Given the description of an element on the screen output the (x, y) to click on. 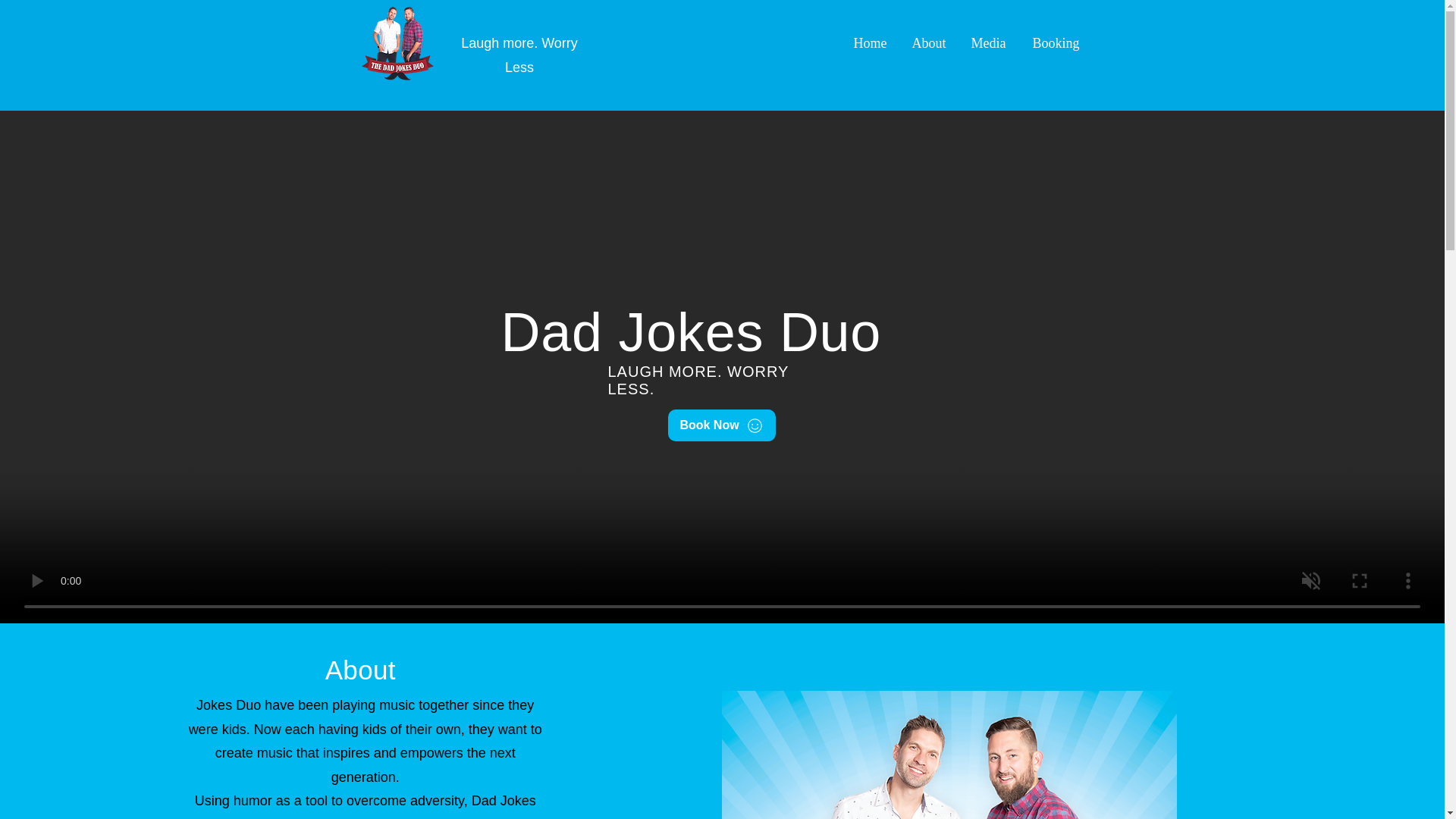
Booking (1049, 42)
Home (866, 42)
About (924, 42)
Book Now (720, 425)
Media (983, 42)
